Given the description of an element on the screen output the (x, y) to click on. 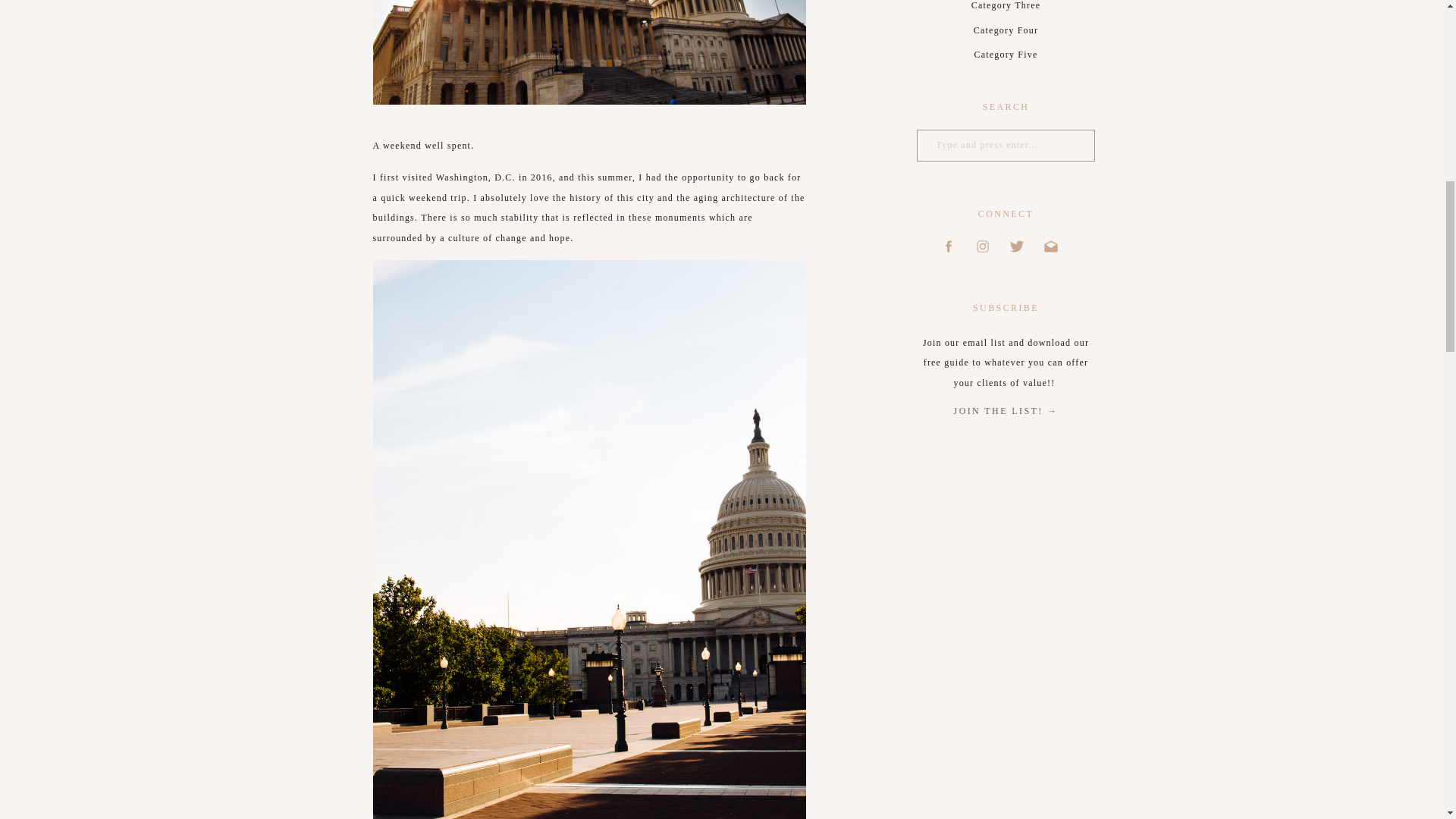
Category Four (1004, 30)
Category Five (1004, 55)
Category Three (1004, 8)
